Given the description of an element on the screen output the (x, y) to click on. 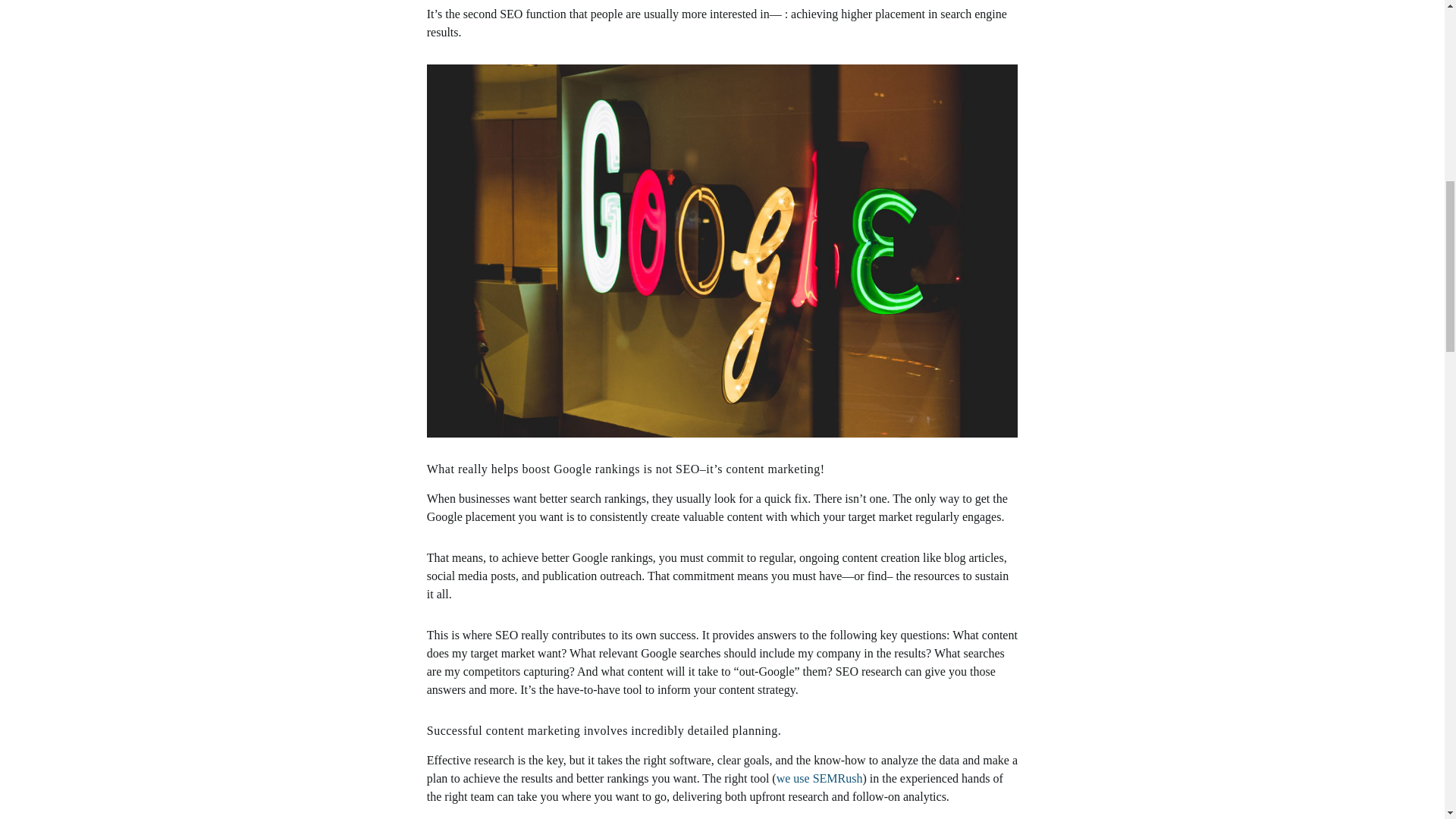
we use SEMRush (819, 778)
